Given the description of an element on the screen output the (x, y) to click on. 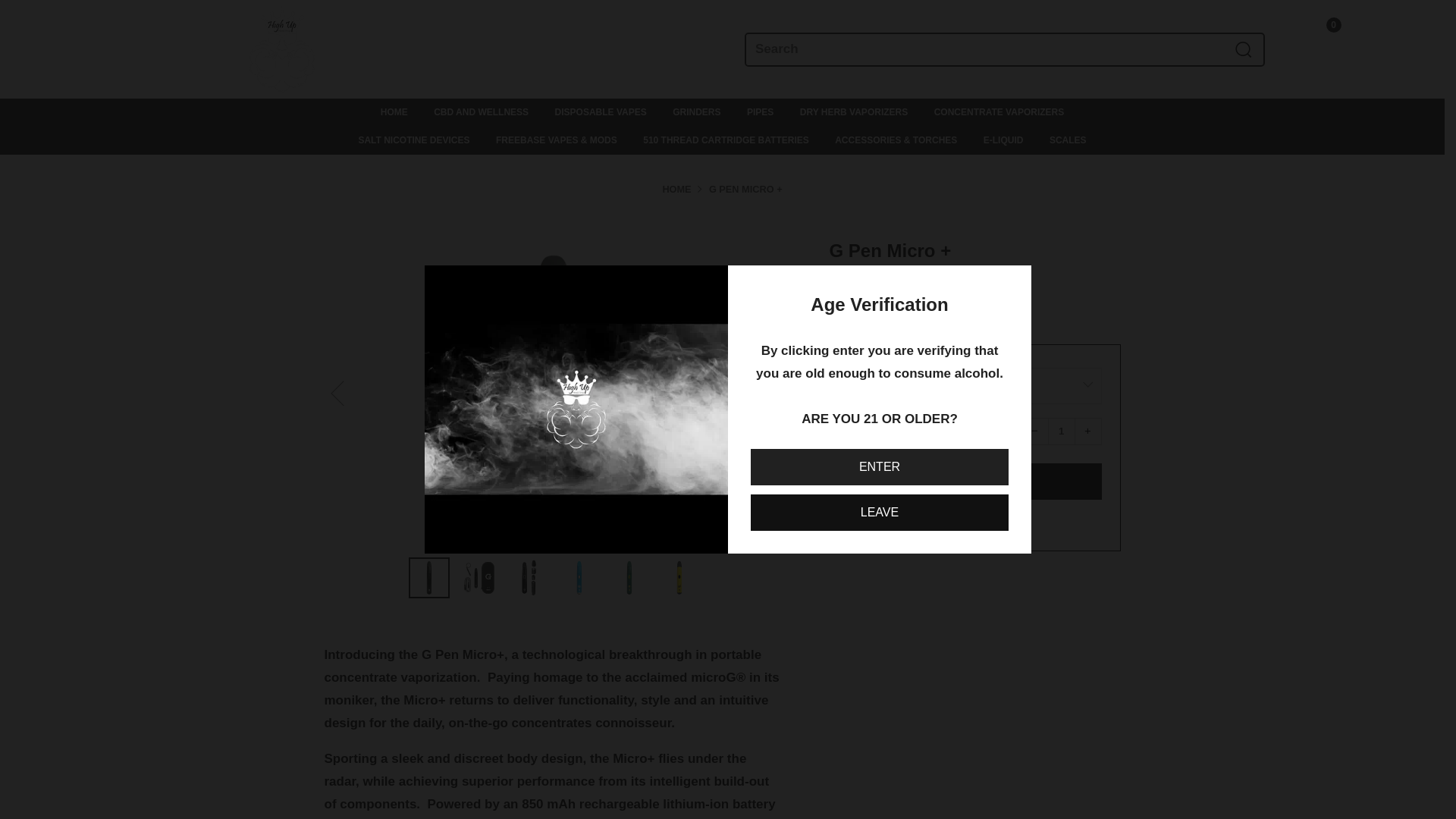
ENTER (880, 466)
Home (676, 188)
LEAVE (880, 512)
Log In (1399, 20)
1 (1344, 20)
